Given the description of an element on the screen output the (x, y) to click on. 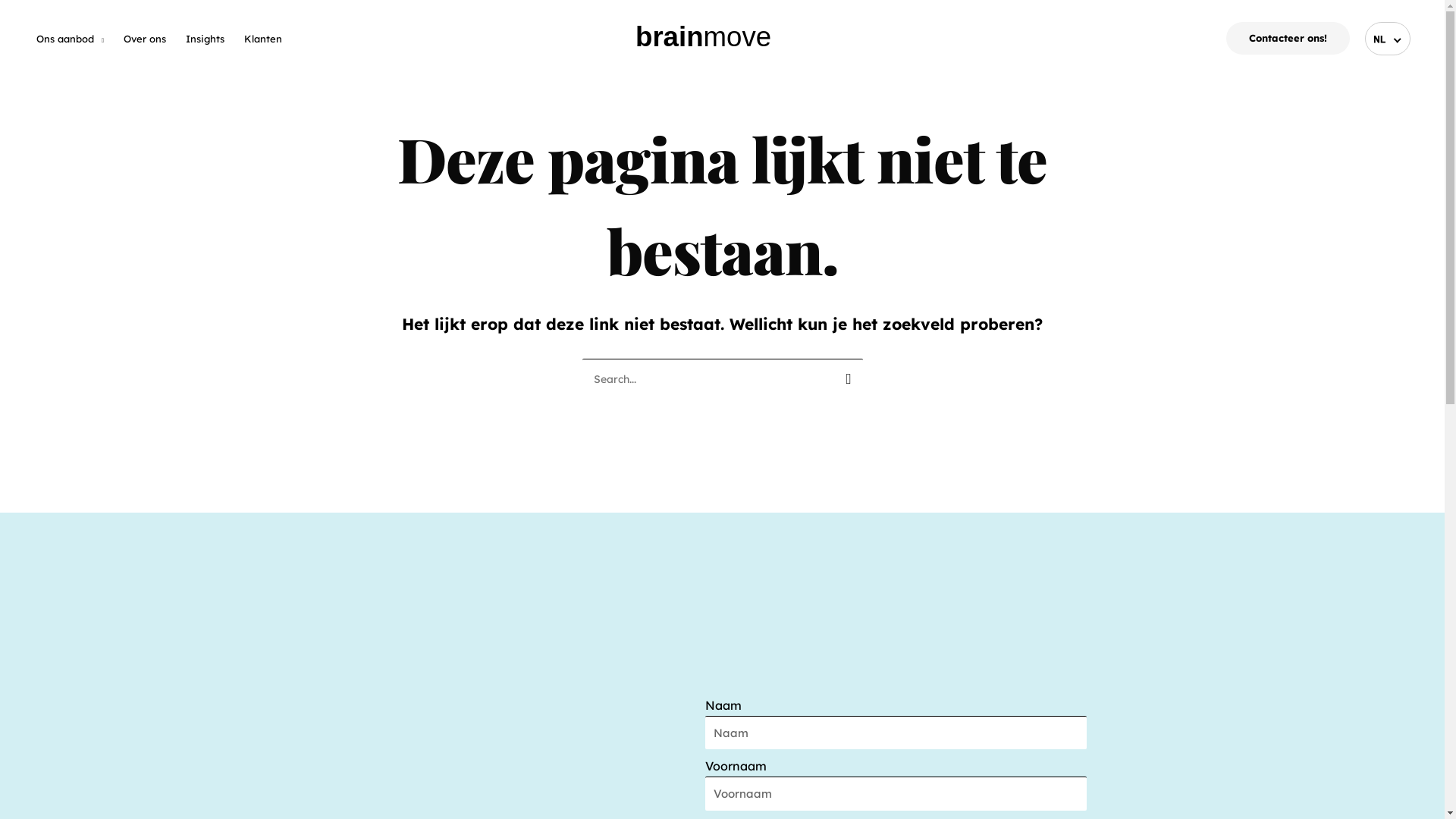
Contacteer ons! Element type: text (1287, 37)
Over ons Element type: text (144, 38)
Ons aanbod Element type: text (69, 38)
Klanten Element type: text (262, 38)
Insights Element type: text (204, 38)
Zoeken Element type: text (845, 375)
